Given the description of an element on the screen output the (x, y) to click on. 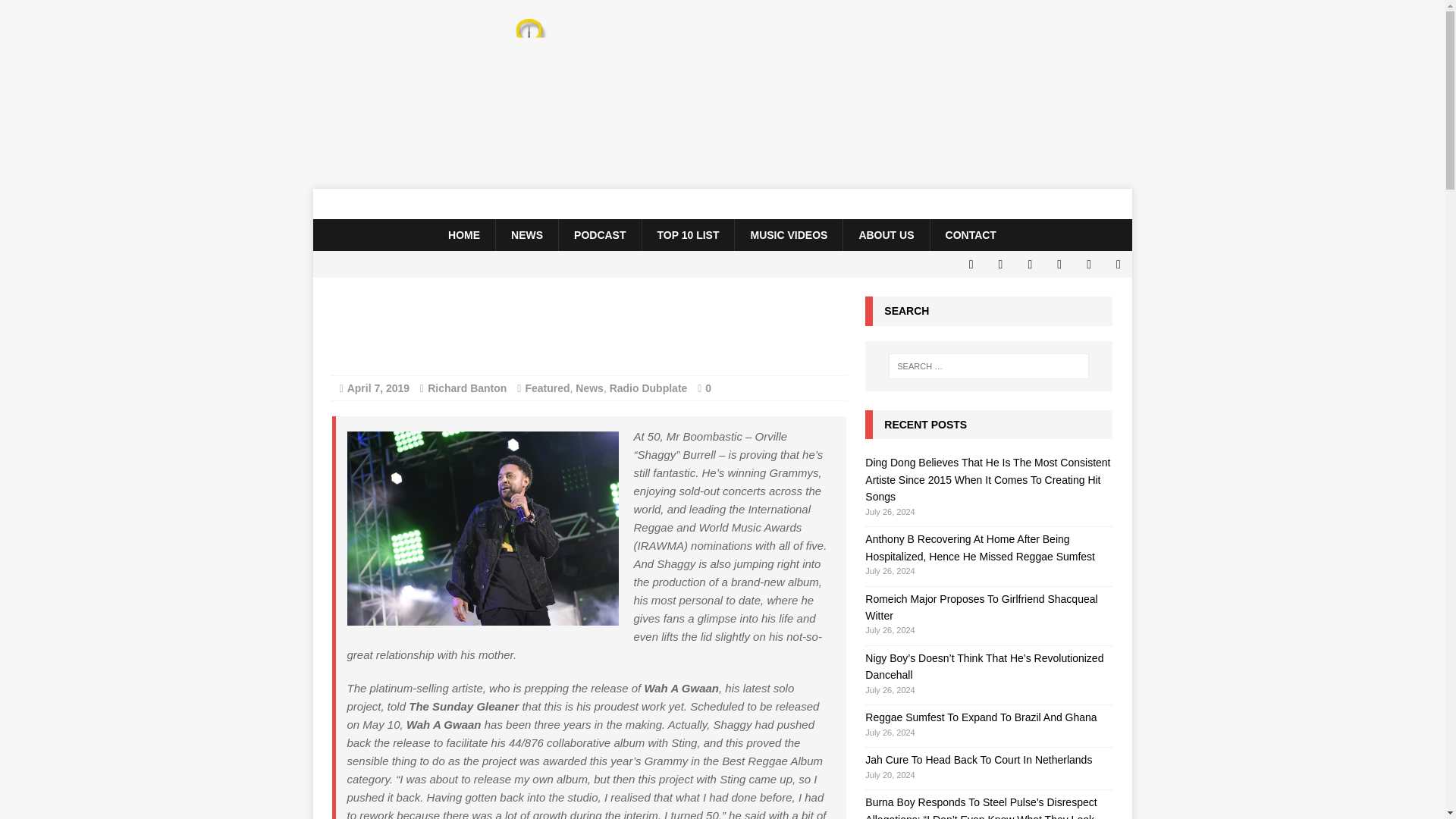
April 7, 2019 (378, 387)
Radio Dubplate (648, 387)
CONTACT (970, 234)
TOP 10 LIST (688, 234)
NEWS (526, 234)
Featured (546, 387)
HOME (463, 234)
ABOUT US (885, 234)
0 (707, 387)
Radio Dubplate (722, 204)
News (589, 387)
0 (707, 387)
Richard Banton (467, 387)
MUSIC VIDEOS (788, 234)
PODCAST (598, 234)
